Given the description of an element on the screen output the (x, y) to click on. 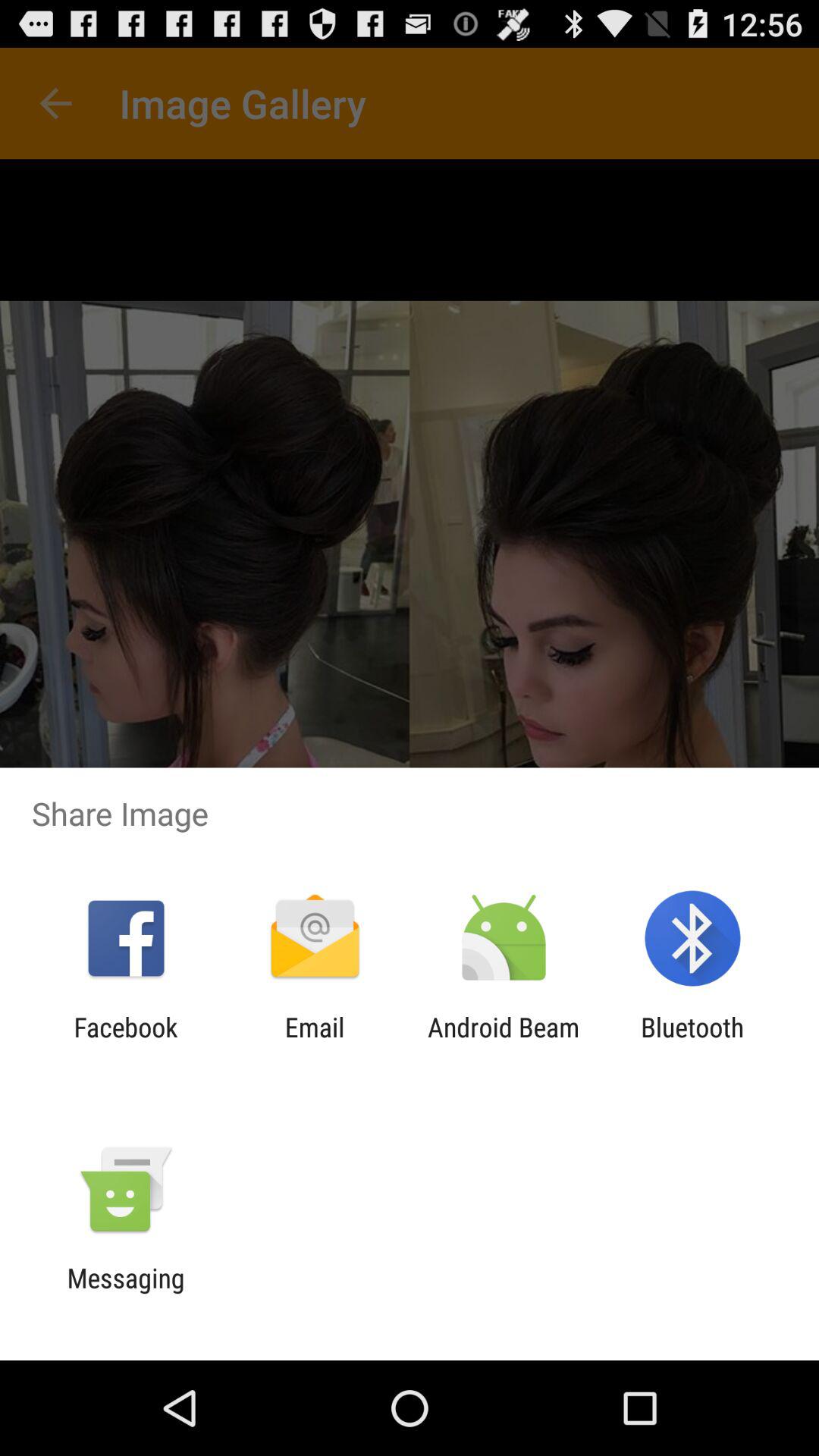
press icon to the right of the facebook icon (314, 1042)
